Given the description of an element on the screen output the (x, y) to click on. 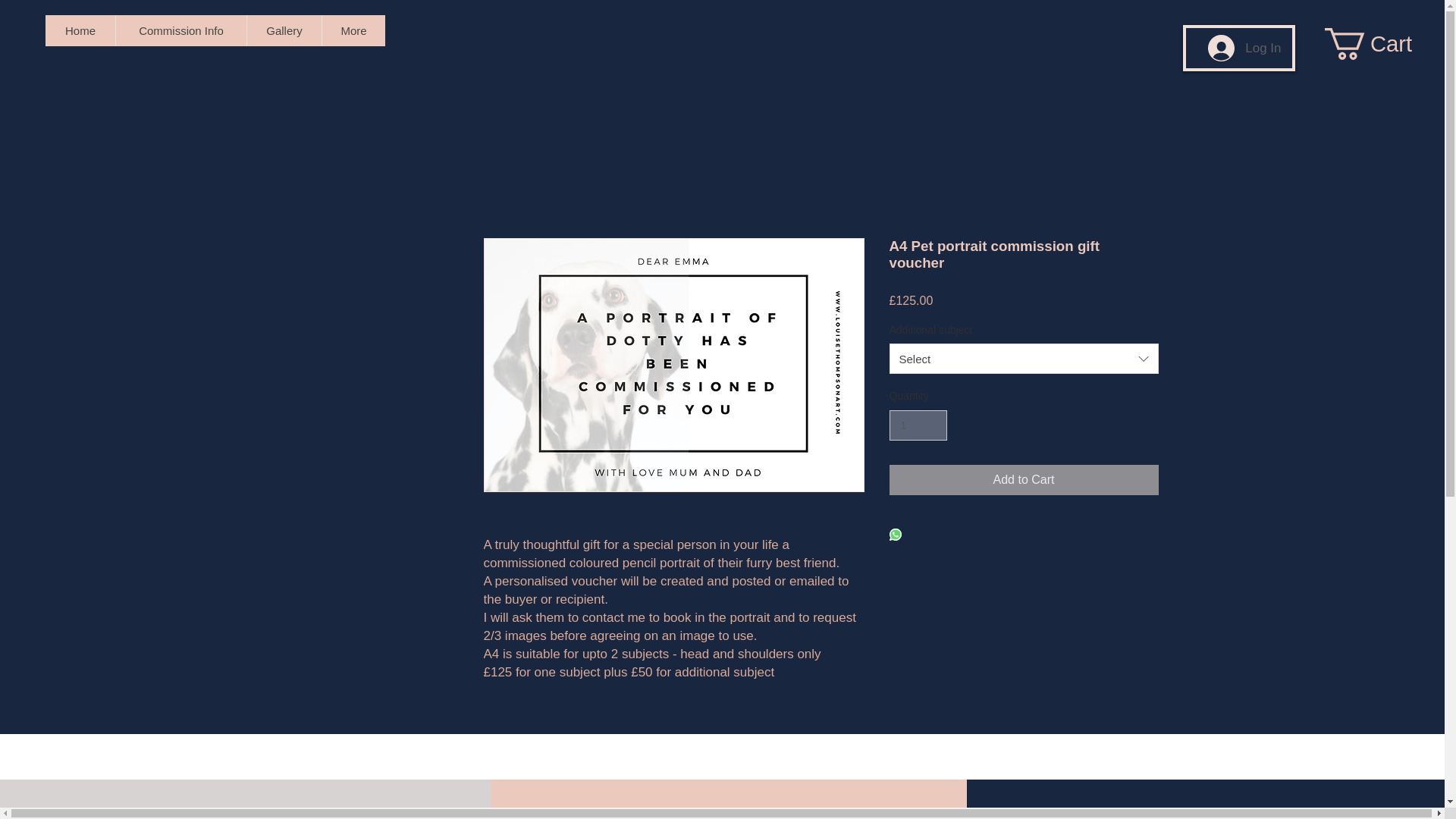
Cart (1384, 43)
Cart (1384, 43)
1 (917, 425)
Gallery (283, 30)
Select (1022, 358)
Add to Cart (1022, 480)
Commission Info (180, 30)
Log In (1243, 48)
Home (80, 30)
